Given the description of an element on the screen output the (x, y) to click on. 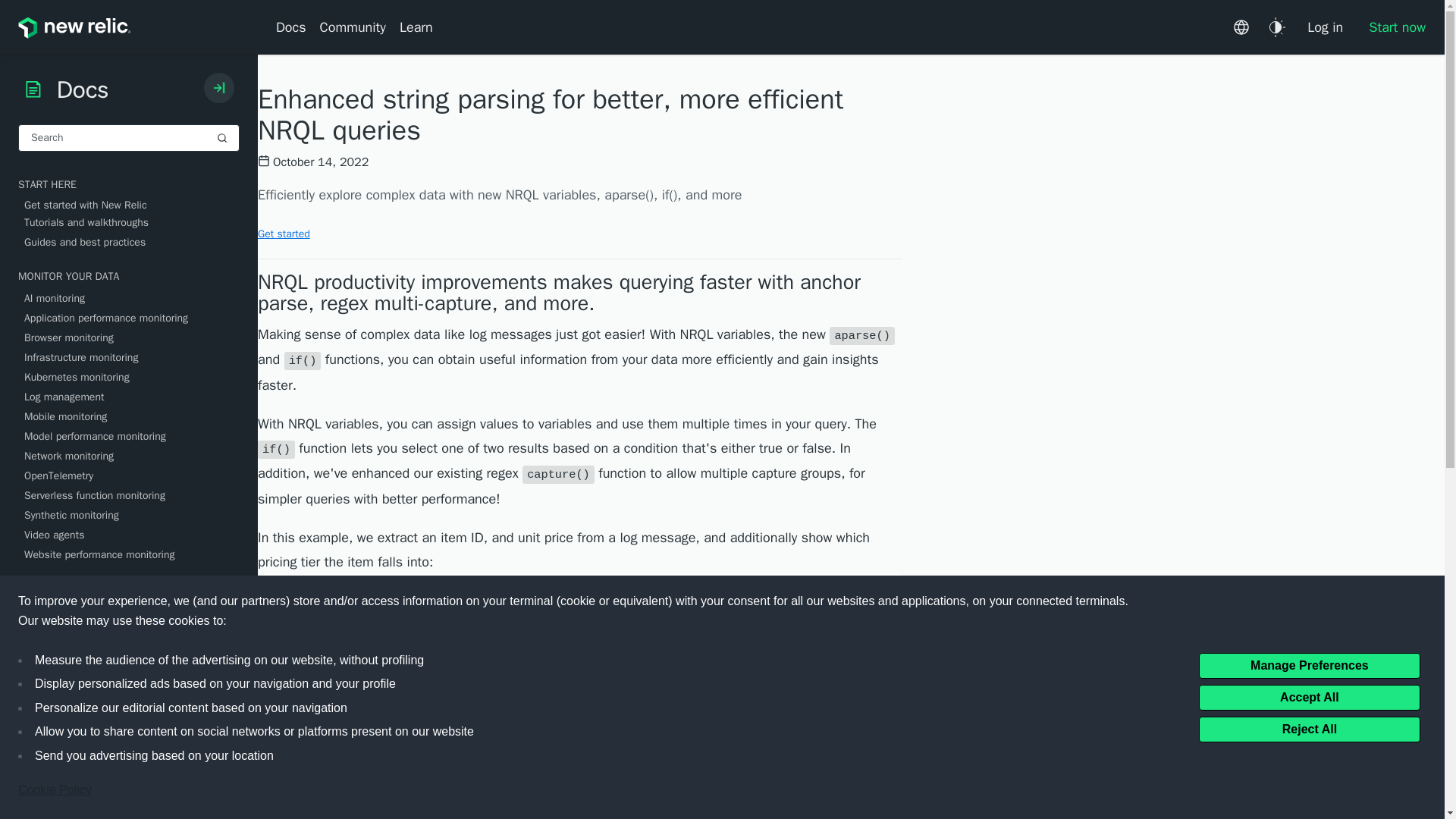
Docs (294, 27)
Accept All (1309, 696)
Start now (1390, 26)
Learn (416, 27)
Get started with New Relic (131, 204)
Reject All (1309, 728)
Community (353, 27)
Manage Preferences (1309, 664)
Log in (1324, 26)
